Given the description of an element on the screen output the (x, y) to click on. 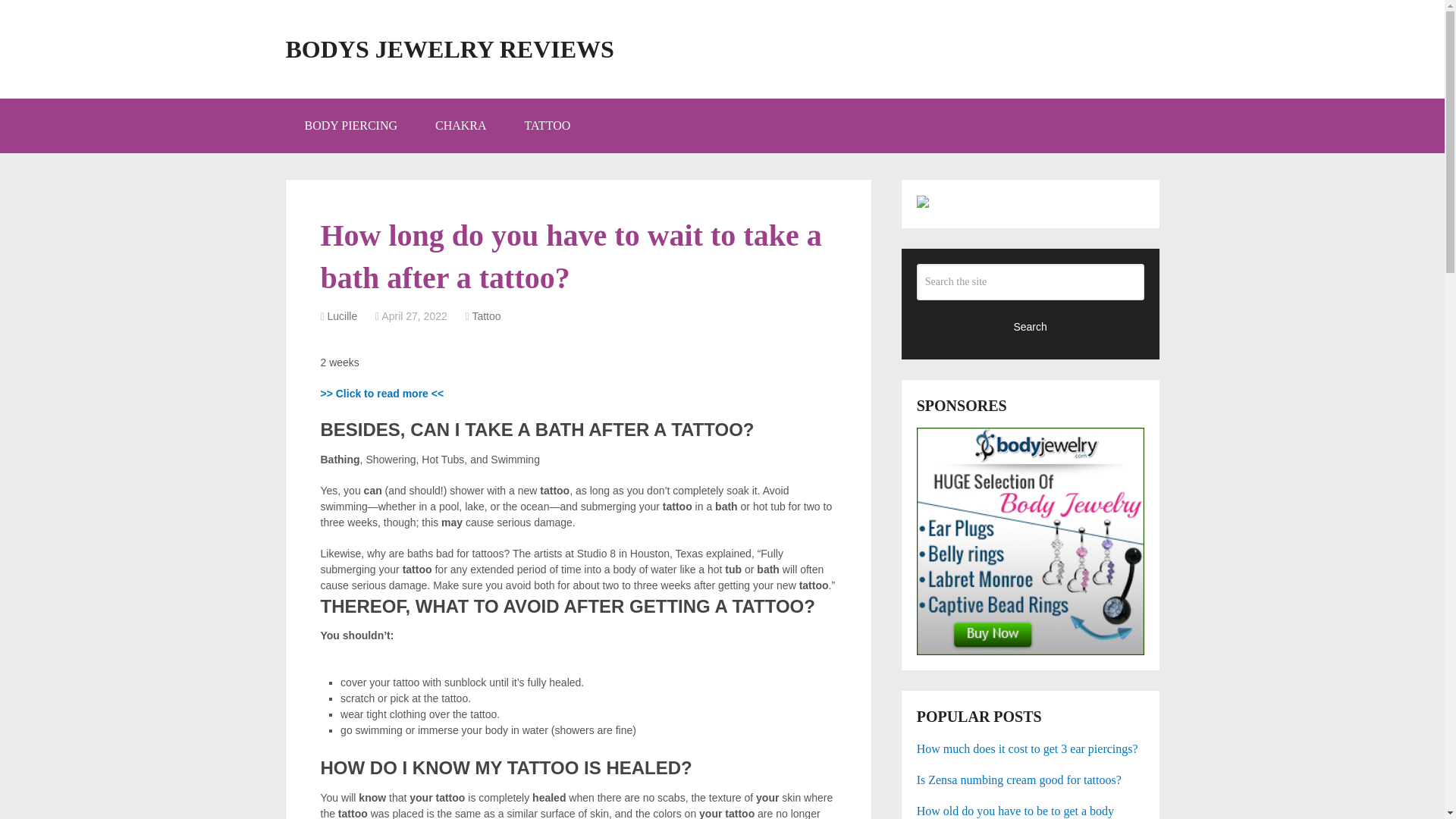
Tattoo (485, 316)
Posts by Lucille (342, 316)
View all posts in Tattoo (485, 316)
How old do you have to be to get a body piercing in Texas? (1030, 810)
How long do you have to wait to take a bath after a tattoo? (382, 393)
CHAKRA (460, 125)
How much does it cost to get 3 ear piercings? (1030, 749)
Is Zensa numbing cream good for tattoos? (1030, 780)
How much does it cost to get 3 ear piercings? (1030, 749)
Search (1030, 325)
BODY PIERCING (350, 125)
TATTOO (547, 125)
Is Zensa numbing cream good for tattoos? (1030, 780)
Lucille (342, 316)
BODYS JEWELRY REVIEWS (448, 48)
